Given the description of an element on the screen output the (x, y) to click on. 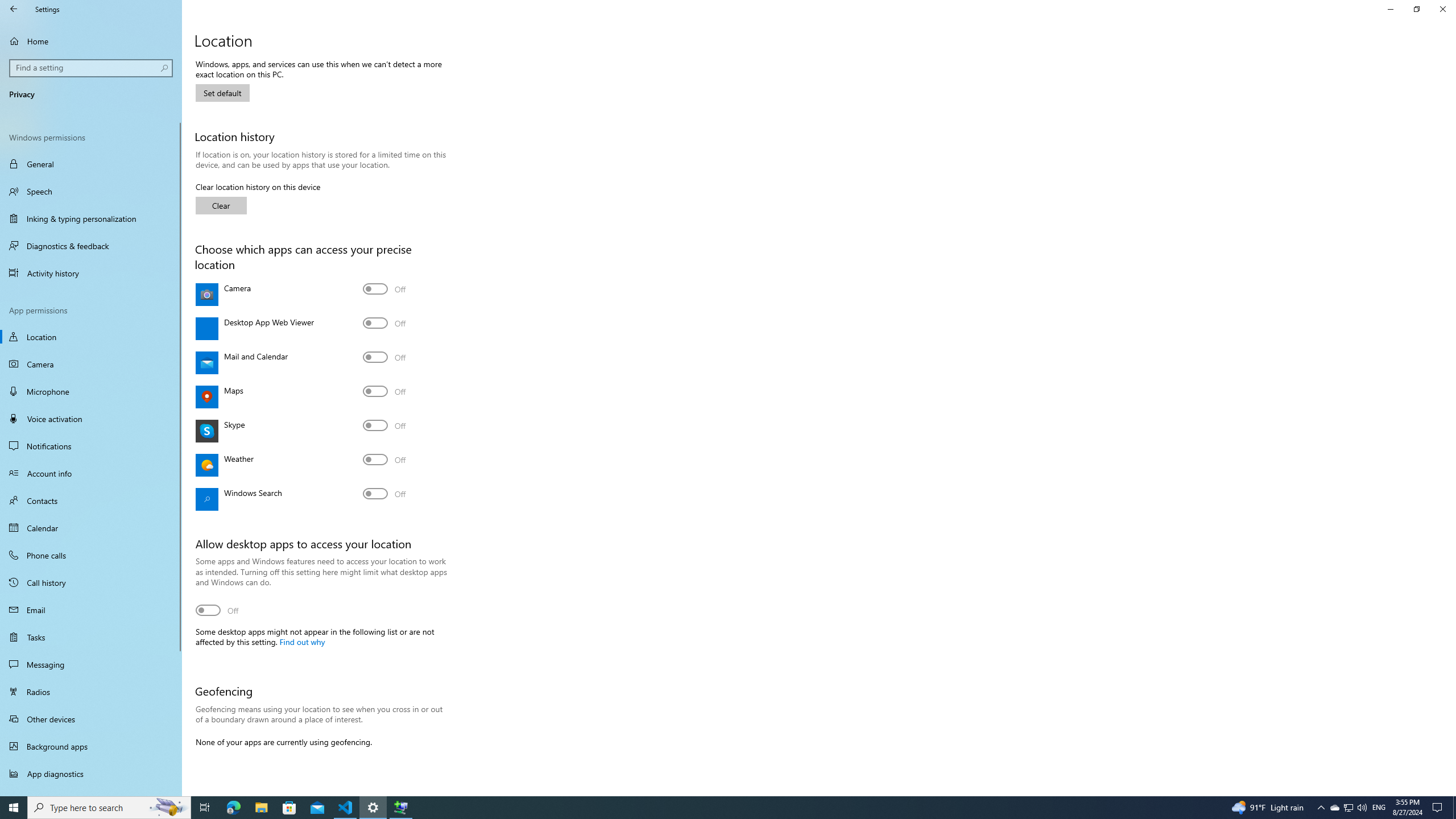
Extensible Wizards Host Process - 1 running window (400, 807)
Weather (384, 459)
Home (91, 40)
Set default (221, 92)
Messaging (91, 664)
Phone calls (91, 554)
Microphone (91, 390)
Maps (384, 391)
Background apps (91, 746)
Skype (384, 425)
